Given the description of an element on the screen output the (x, y) to click on. 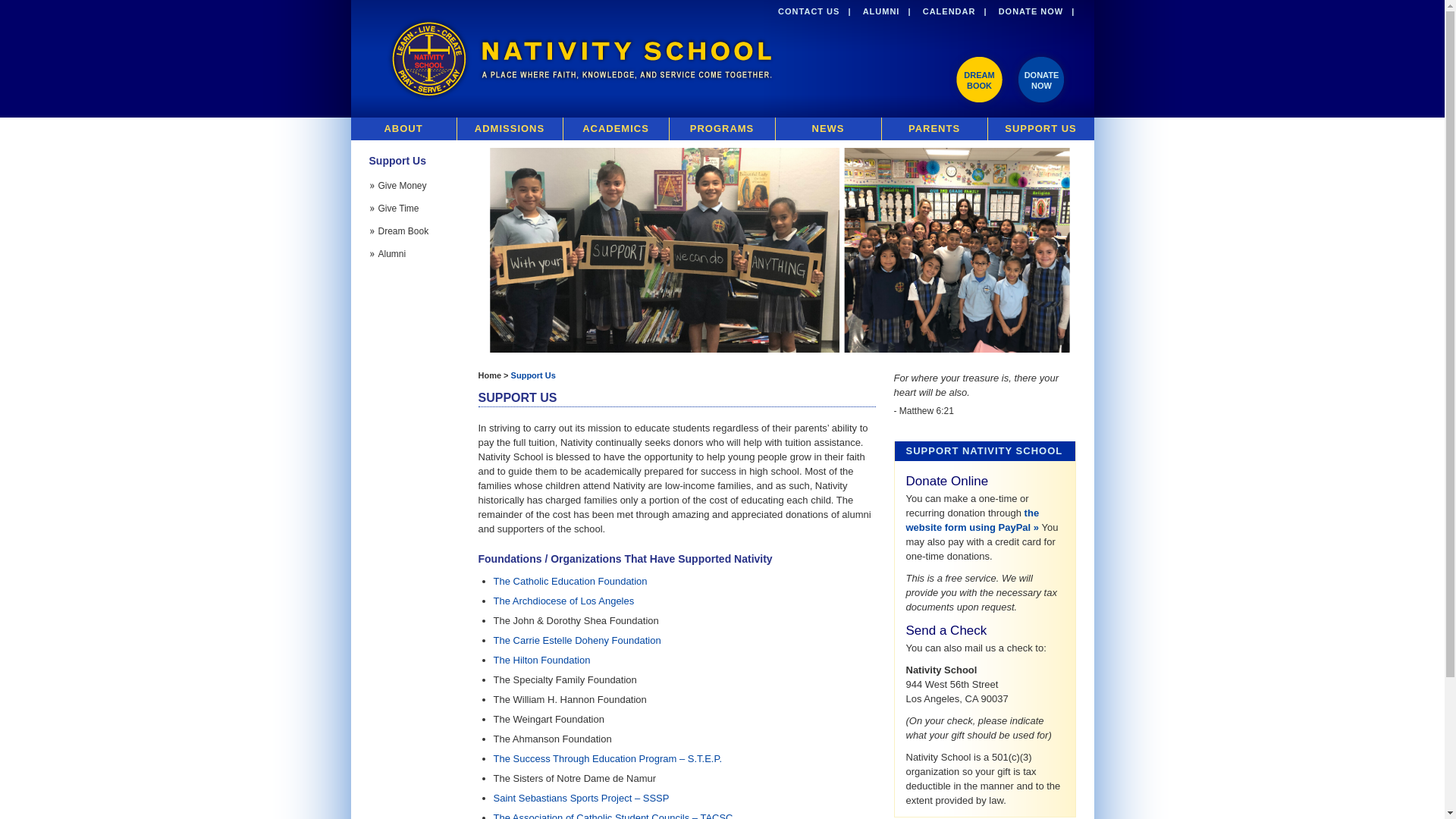
DONATE NOW (1031, 10)
ALUMNI (978, 79)
Support Us (881, 10)
CALENDAR (533, 375)
PARENTS (949, 10)
Home (1040, 79)
ADMISSIONS (933, 128)
ABOUT (488, 375)
CONTACT US (509, 128)
ACADEMICS (403, 128)
SUPPORT US (808, 10)
NEWS (615, 128)
